Given the description of an element on the screen output the (x, y) to click on. 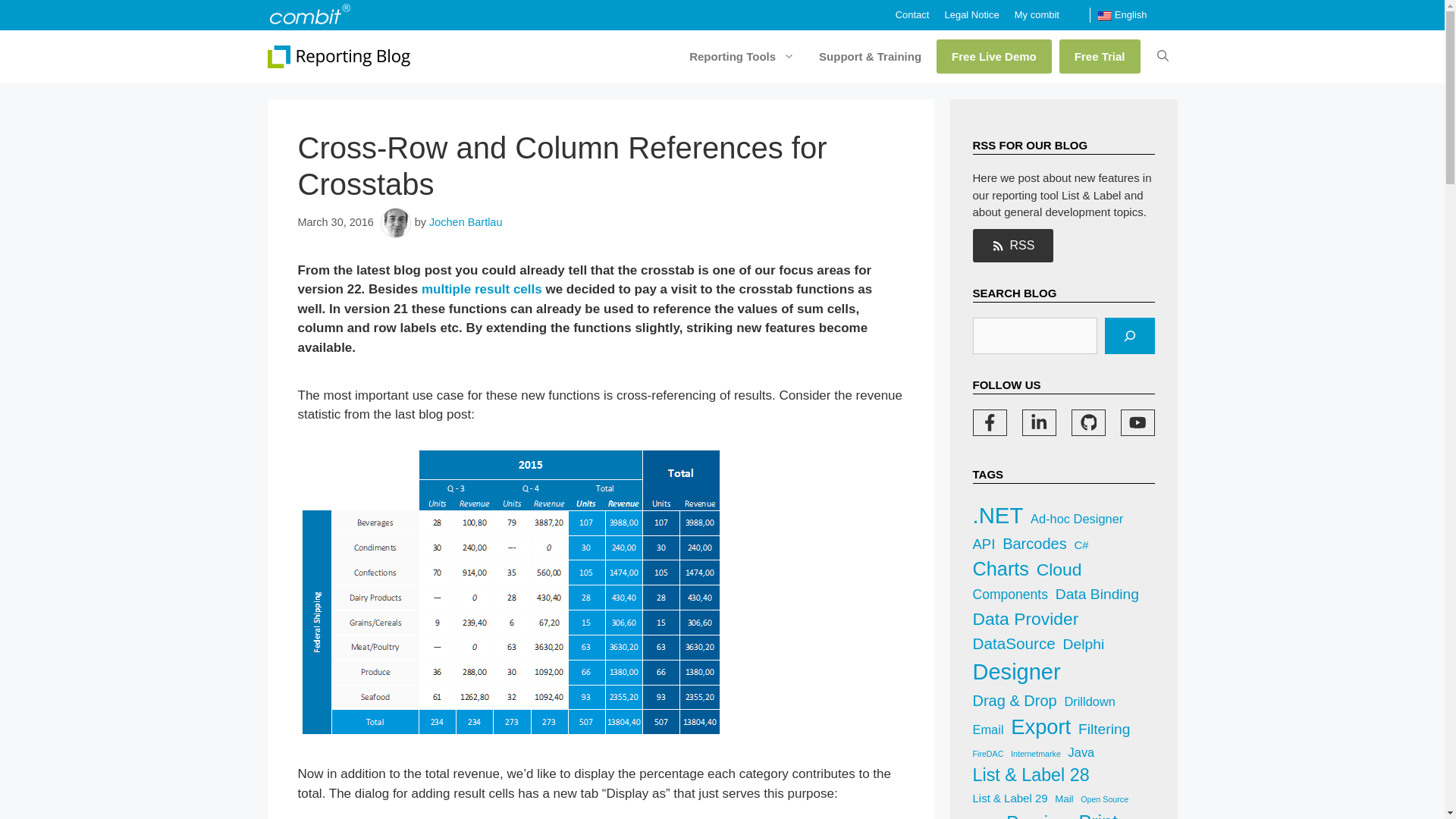
Free Trial (1099, 56)
Free Live Demo (993, 56)
My combit (1036, 14)
multiple result cells (481, 288)
Reporting Tools (738, 56)
English (1122, 14)
Jochen Bartlau (465, 222)
View all posts by Jochen Bartlau (465, 222)
Contact (912, 14)
Legal Notice (970, 14)
English (1122, 14)
